Given the description of an element on the screen output the (x, y) to click on. 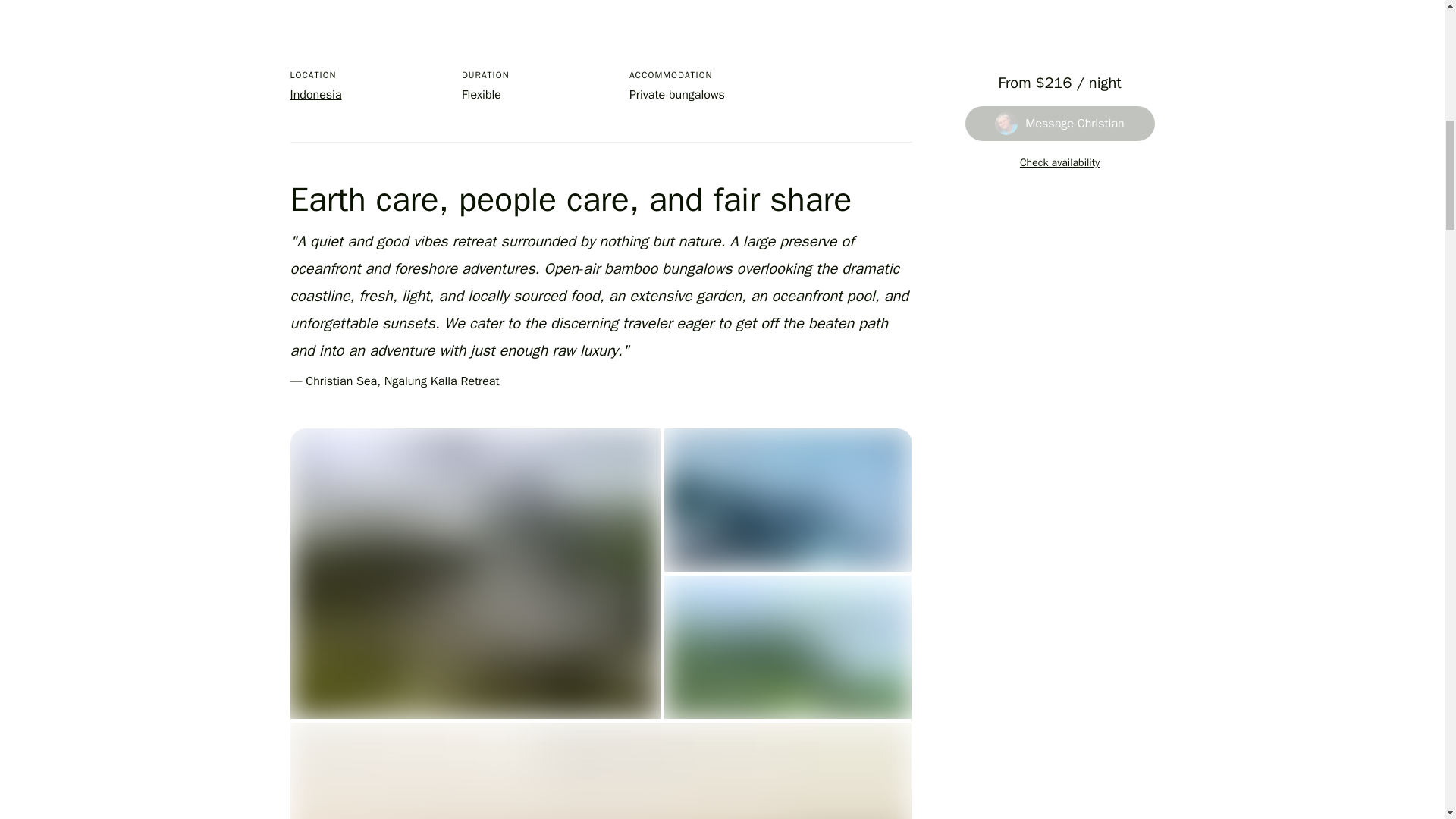
Indonesia (314, 94)
